Given the description of an element on the screen output the (x, y) to click on. 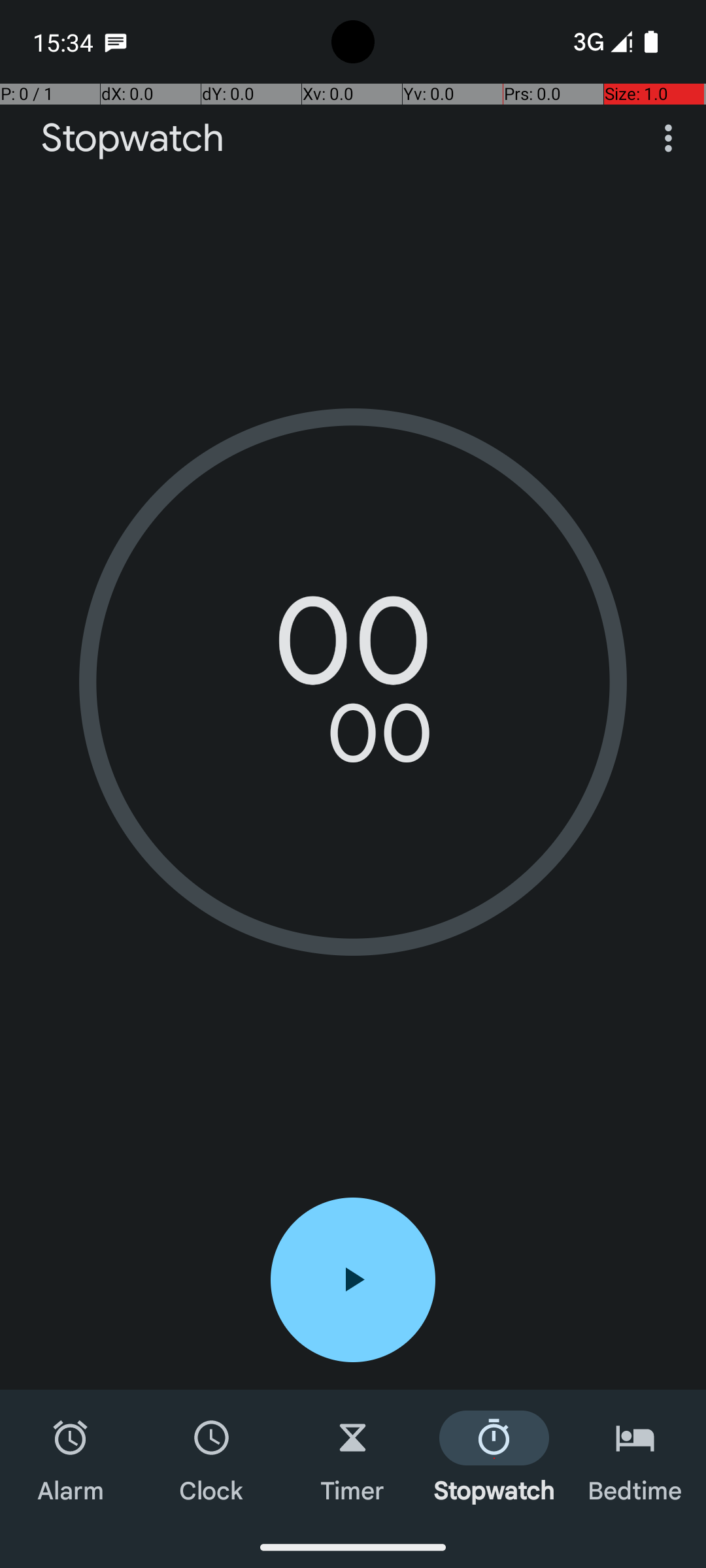
Stopwatch Element type: android.widget.TextView (132, 138)
Start Element type: android.widget.Button (352, 1279)
00 Element type: android.widget.TextView (352, 650)
Alarm Element type: android.widget.FrameLayout (70, 1457)
Clock Element type: android.widget.FrameLayout (211, 1457)
Timer Element type: android.widget.FrameLayout (352, 1457)
Bedtime Element type: android.widget.FrameLayout (635, 1457)
SMS Messenger notification: Petar Gonzalez Element type: android.widget.ImageView (115, 41)
